Given the description of an element on the screen output the (x, y) to click on. 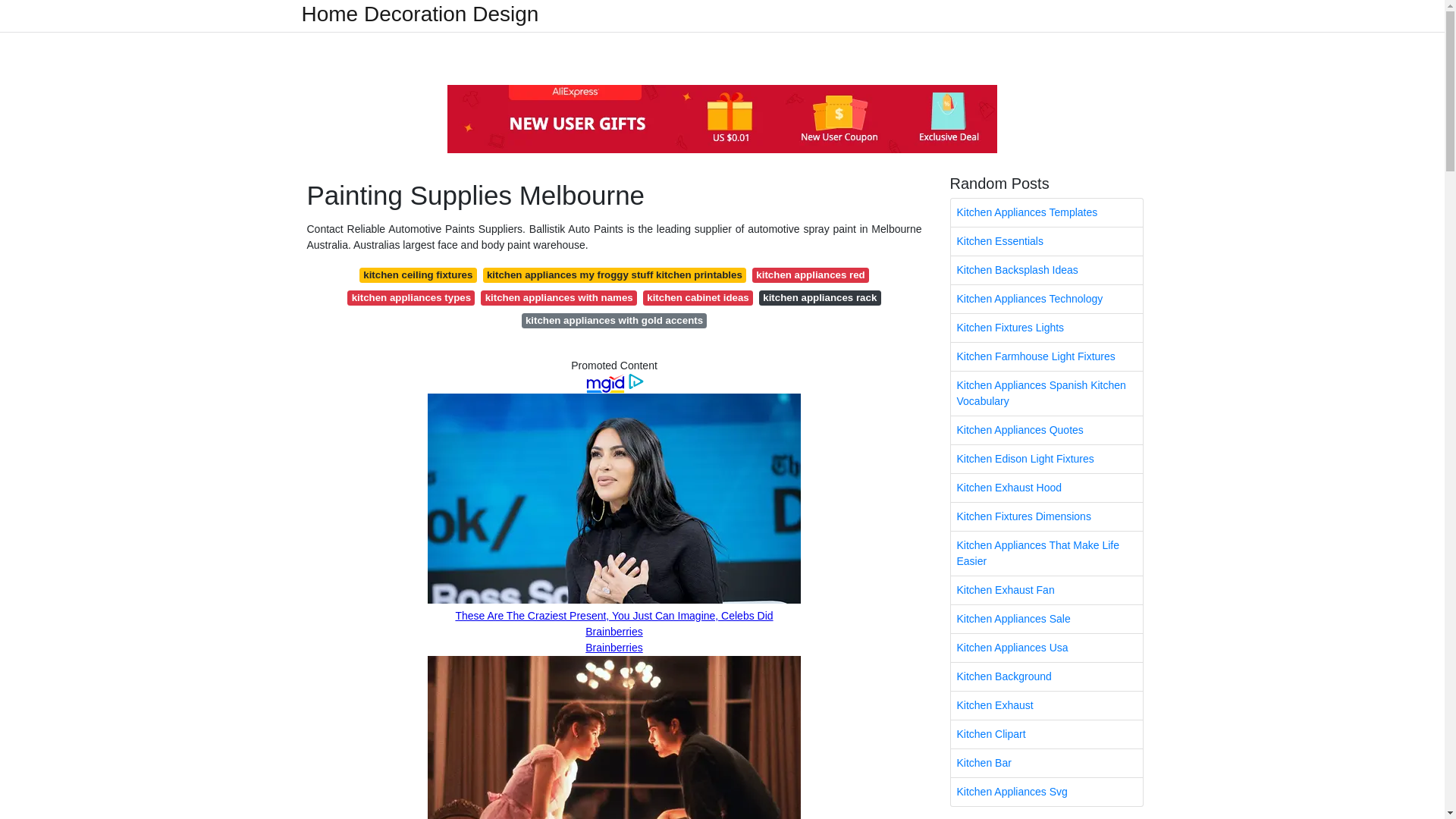
Kitchen Fixtures Lights (1046, 327)
kitchen cabinet ideas (697, 297)
Home Decoration Design (419, 13)
kitchen appliances with gold accents (614, 320)
Home Decoration Design (419, 13)
kitchen appliances rack (819, 297)
kitchen appliances with names (558, 297)
Kitchen Edison Light Fixtures (1046, 459)
Kitchen Backsplash Ideas (1046, 270)
kitchen appliances my froggy stuff kitchen printables (614, 274)
kitchen appliances red (810, 274)
Kitchen Appliances Quotes (1046, 430)
kitchen appliances types (410, 297)
Kitchen Appliances Spanish Kitchen Vocabulary (1046, 393)
Kitchen Farmhouse Light Fixtures (1046, 357)
